Given the description of an element on the screen output the (x, y) to click on. 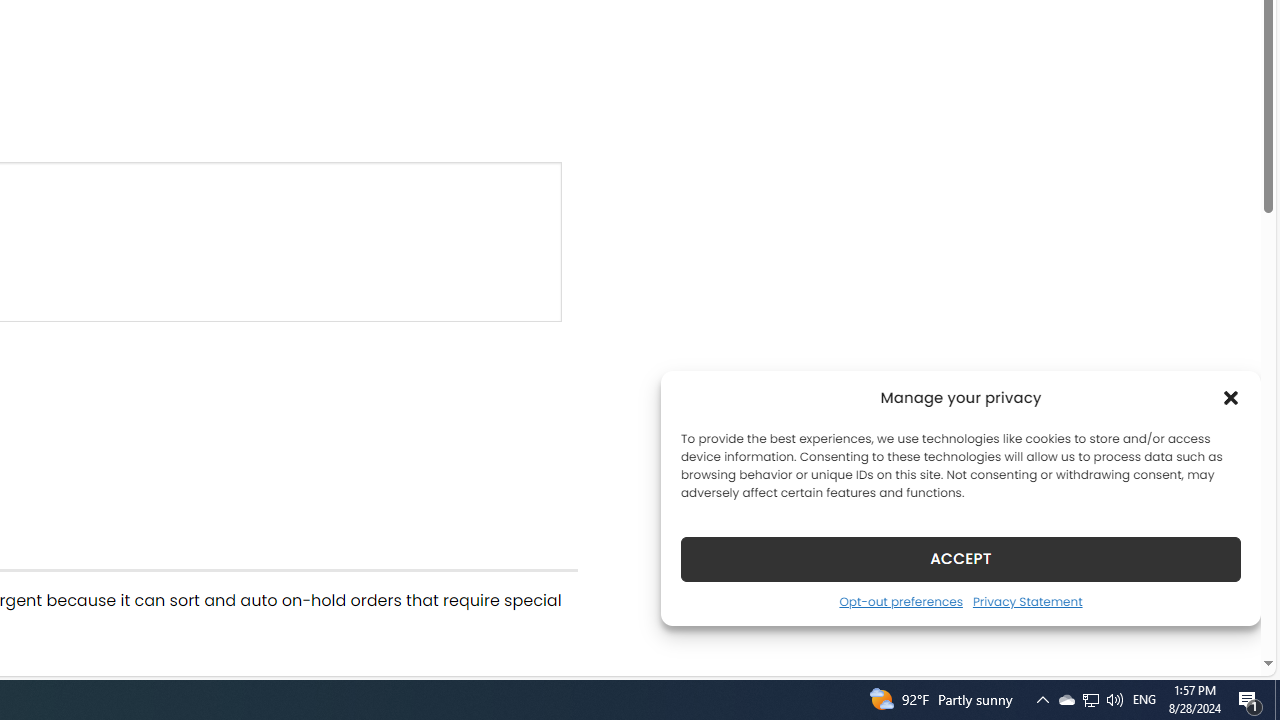
Class: cmplz-close (1231, 397)
ACCEPT (960, 558)
Privacy Statement (1026, 601)
Opt-out preferences (900, 601)
